Given the description of an element on the screen output the (x, y) to click on. 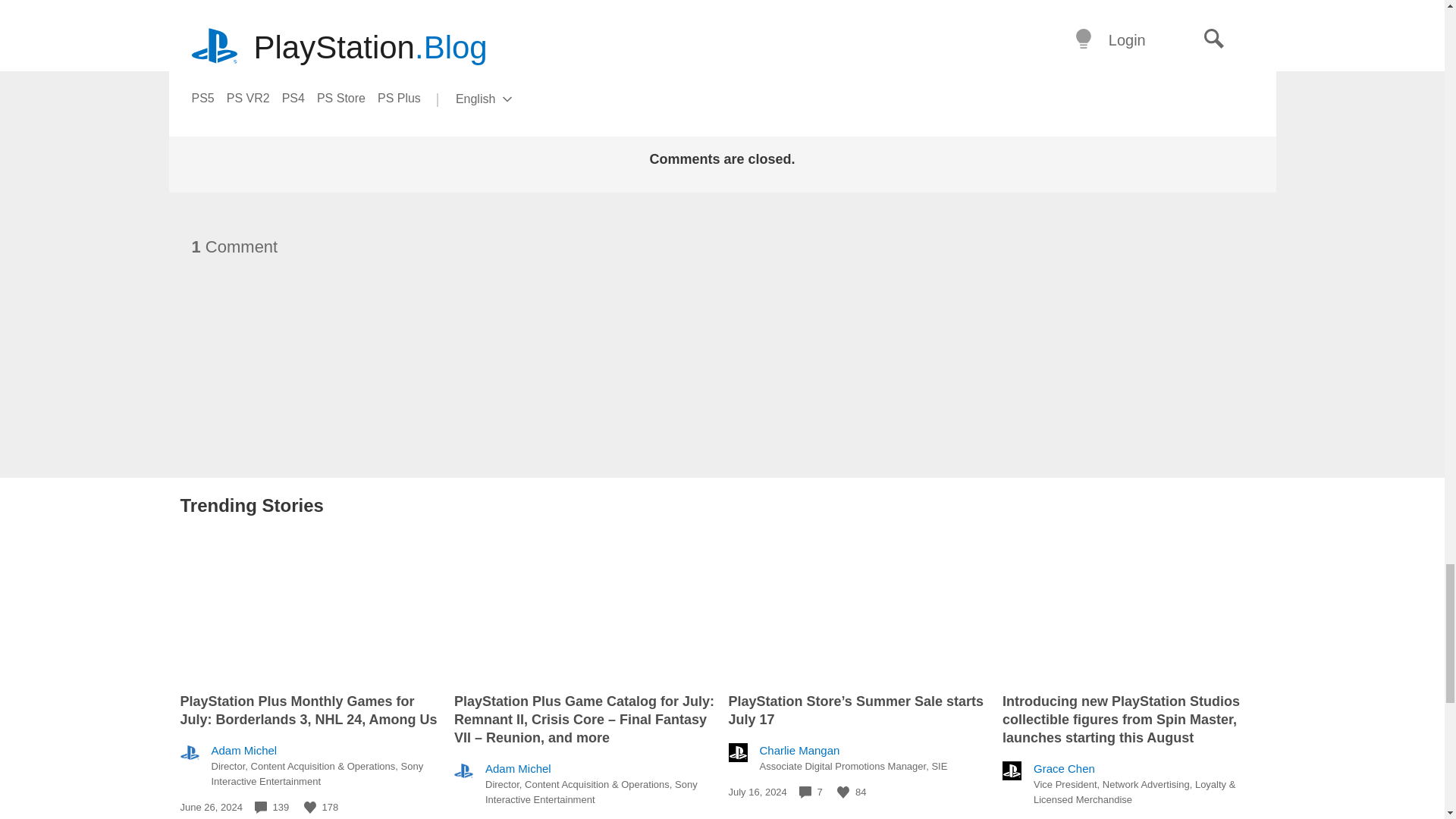
Like this (309, 807)
Like this (842, 792)
